Given the description of an element on the screen output the (x, y) to click on. 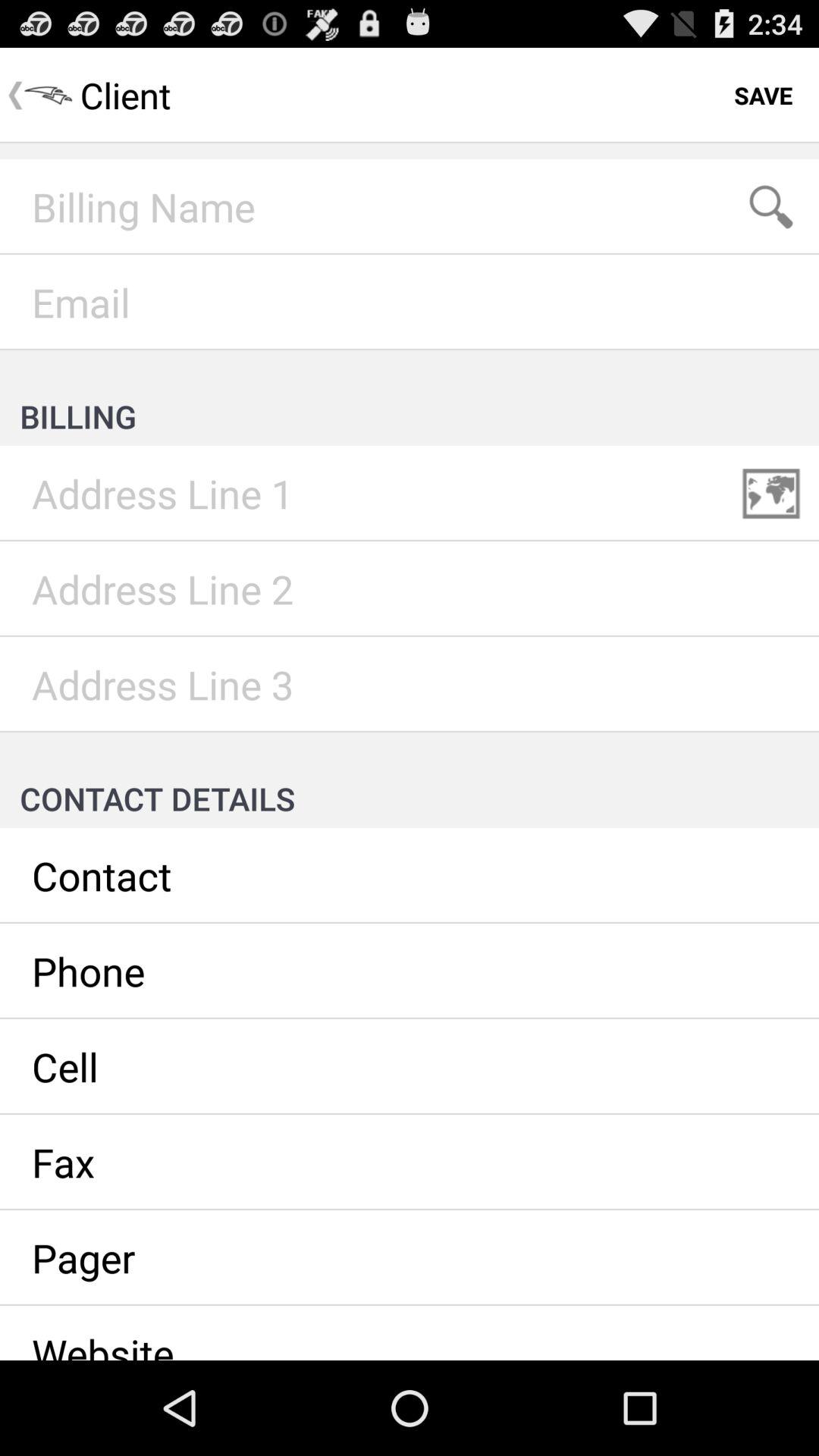
click the phone option (409, 971)
